Given the description of an element on the screen output the (x, y) to click on. 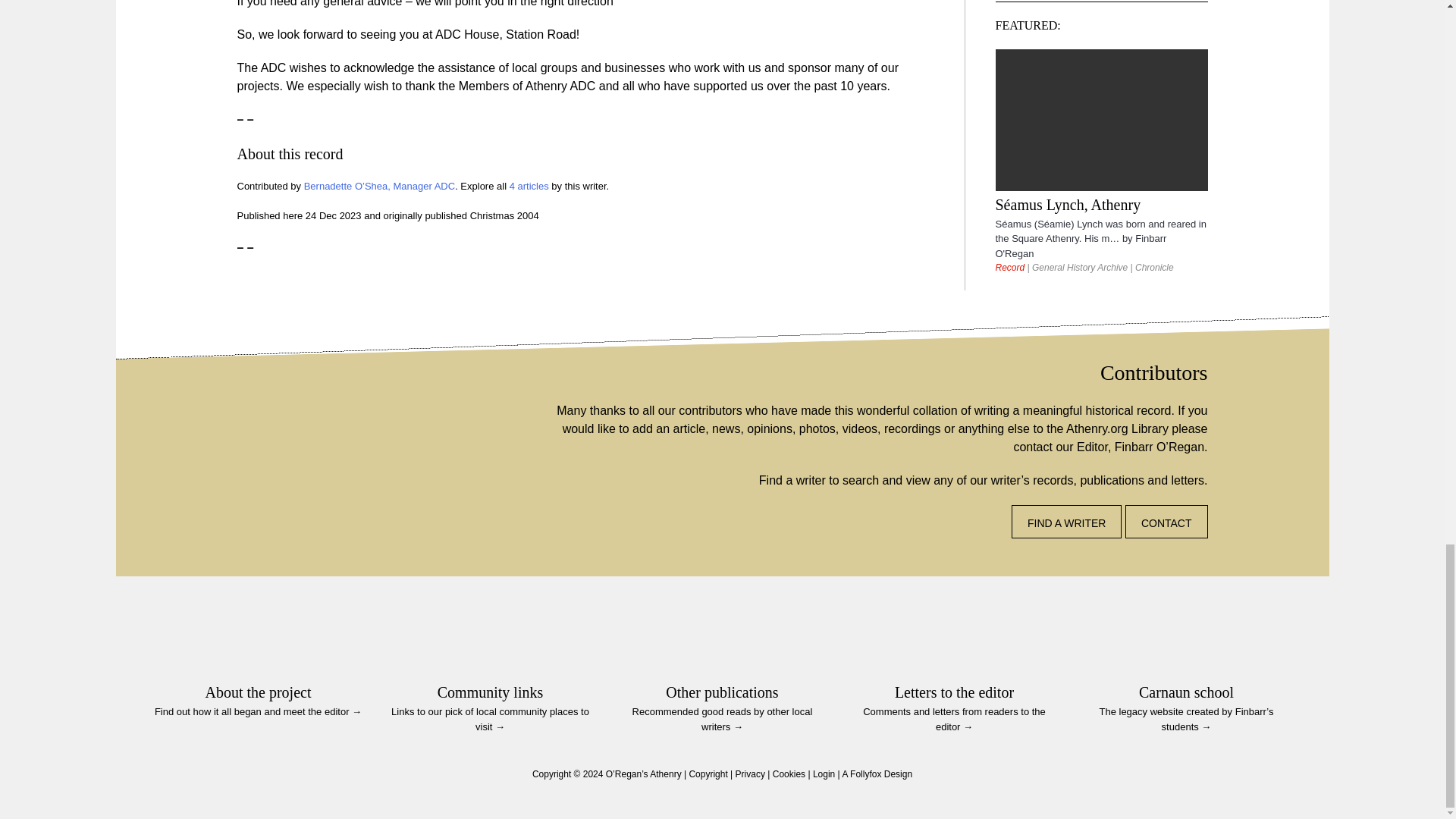
Login (823, 774)
A Follyfox Design (876, 774)
Copyright (707, 774)
CONTACT (1166, 521)
Cookies (789, 774)
4 articles (528, 185)
Privacy (750, 774)
FIND A WRITER (1066, 521)
